Given the description of an element on the screen output the (x, y) to click on. 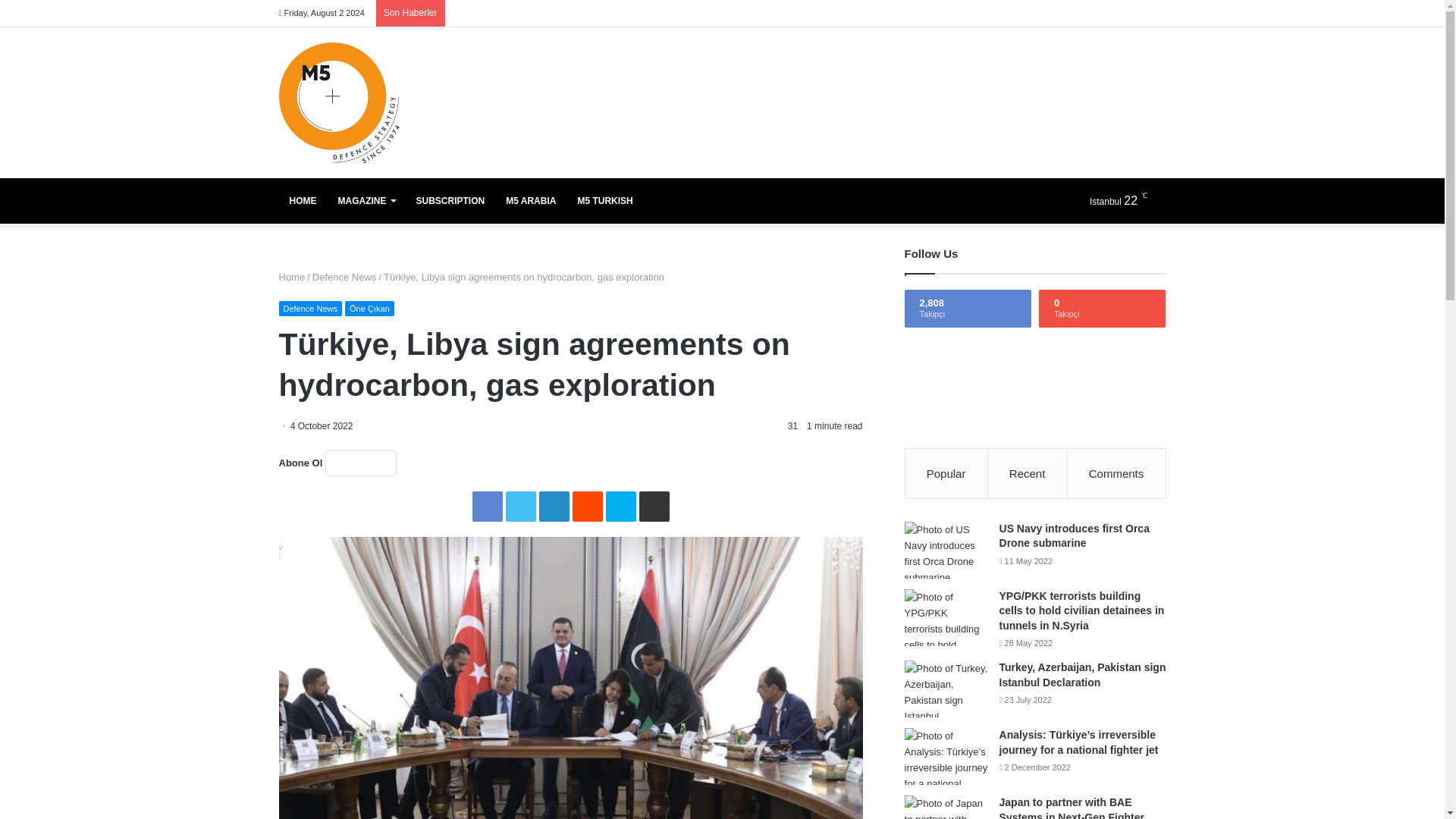
Abone Ol (360, 462)
SUBSCRIPTION (449, 200)
Defence News (310, 308)
M5 Dergi (338, 102)
LinkedIn (553, 506)
Share via Email (653, 506)
Defence News (345, 276)
M5 TURKISH (604, 200)
Reddit (587, 506)
Skype (619, 506)
